Given the description of an element on the screen output the (x, y) to click on. 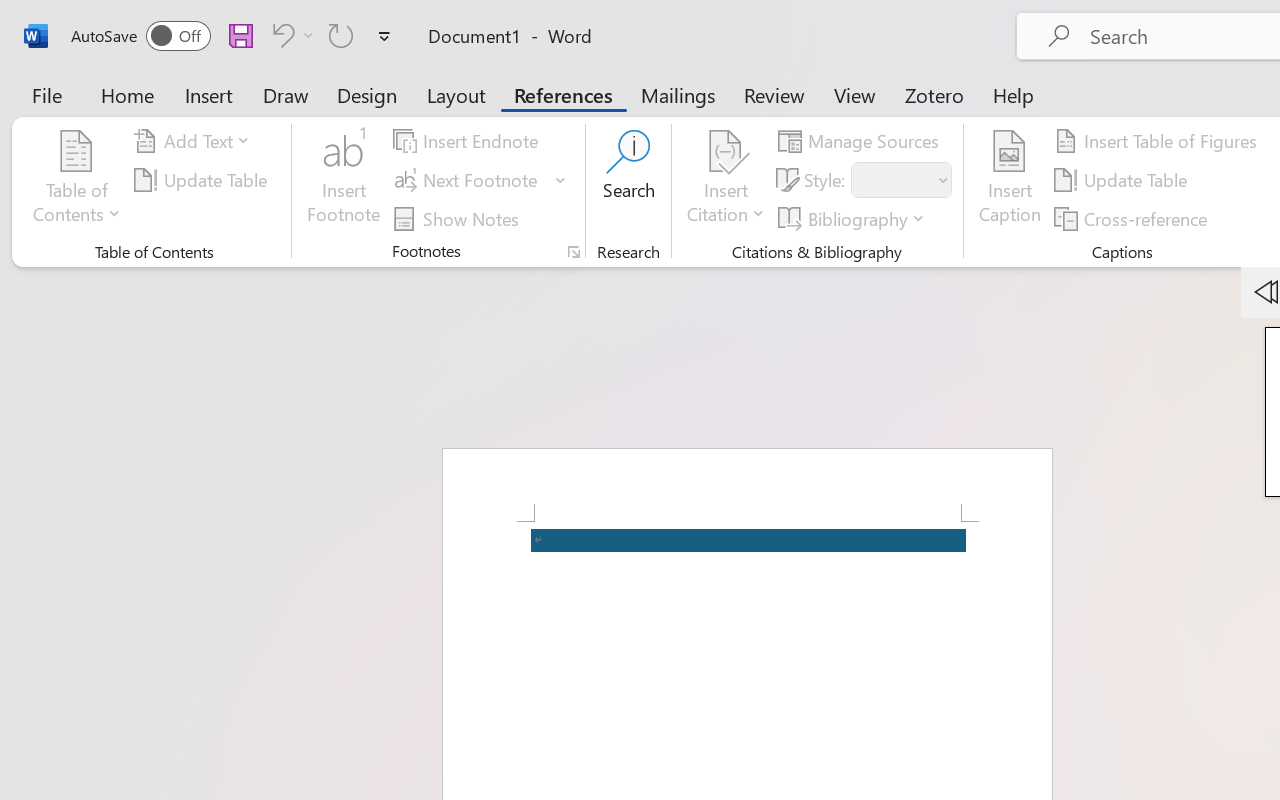
Oorsig (43, 183)
Meer oor hierdie beleid (152, 740)
Behou jou inligting (152, 610)
Deel jou inligting (152, 452)
Inleiding (152, 241)
Diensvoorwaardes (345, 183)
View site information (136, 69)
Hou jou inligting veilig (152, 504)
Inligting wat Google insamel (152, 293)
Voldoening en samewerking met reguleerders (152, 675)
Hoekom Google data insamel (152, 346)
